Given the description of an element on the screen output the (x, y) to click on. 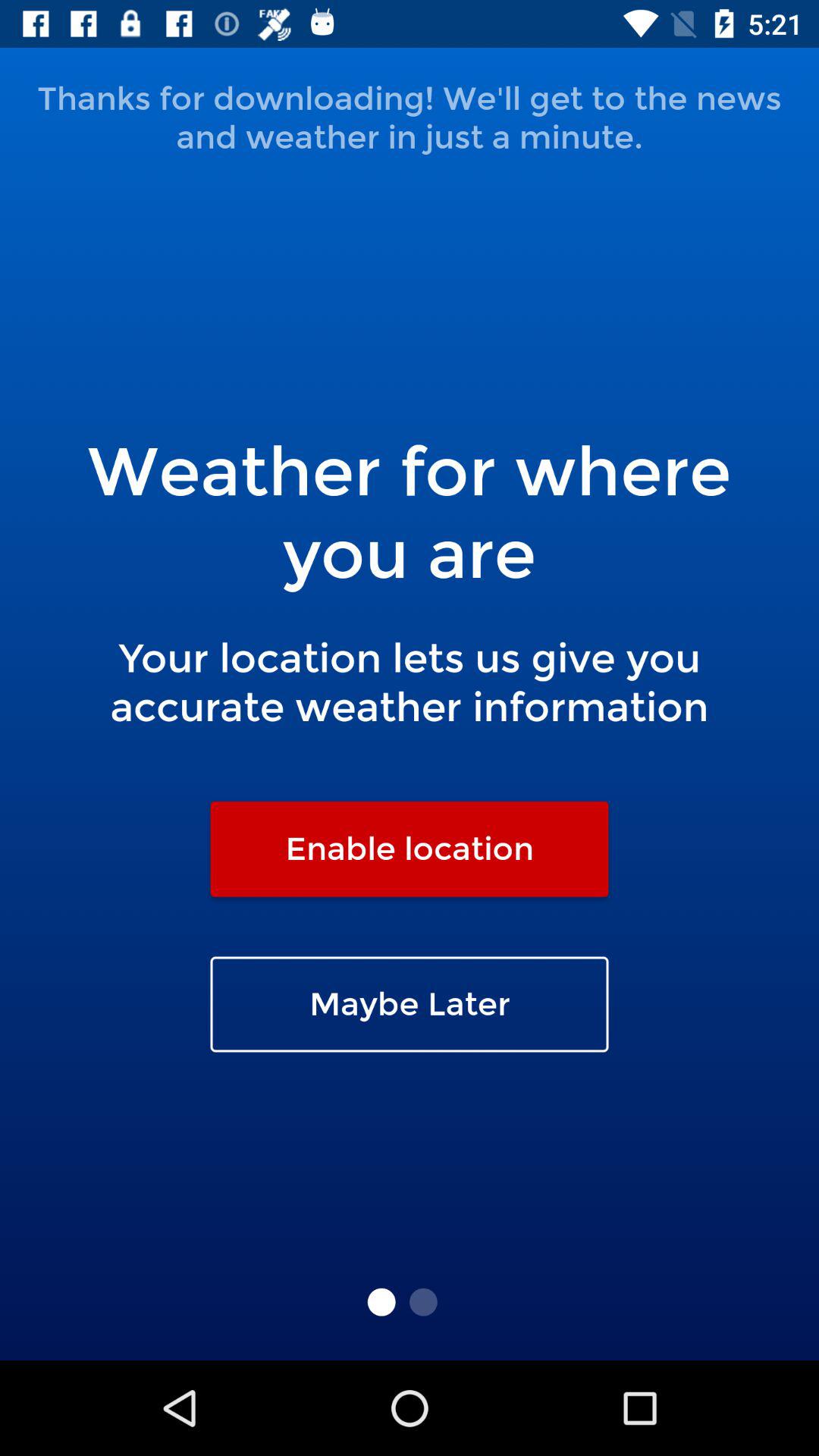
click item below the your location lets icon (409, 848)
